Given the description of an element on the screen output the (x, y) to click on. 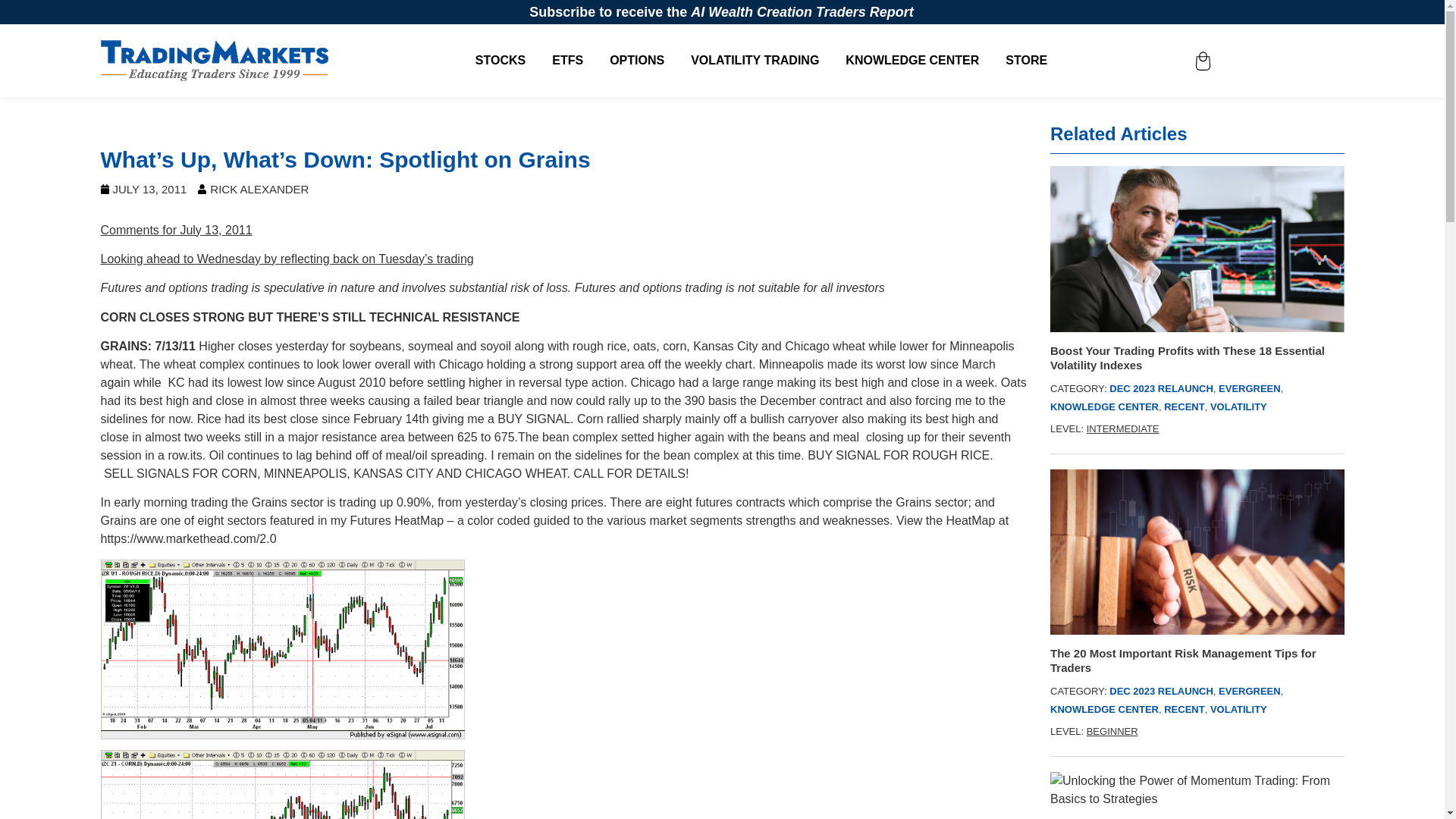
VOLATILITY TRADING (754, 60)
RECENT (1183, 406)
The 20 Most Important Risk Management Tips for Traders (1196, 660)
DEC 2023 RELAUNCH (1160, 388)
EVERGREEN (1249, 690)
INTERMEDIATE (1122, 428)
VOLATILITY (1237, 708)
EVERGREEN (1249, 388)
RECENT (1183, 708)
KNOWLEDGE CENTER (911, 60)
